Given the description of an element on the screen output the (x, y) to click on. 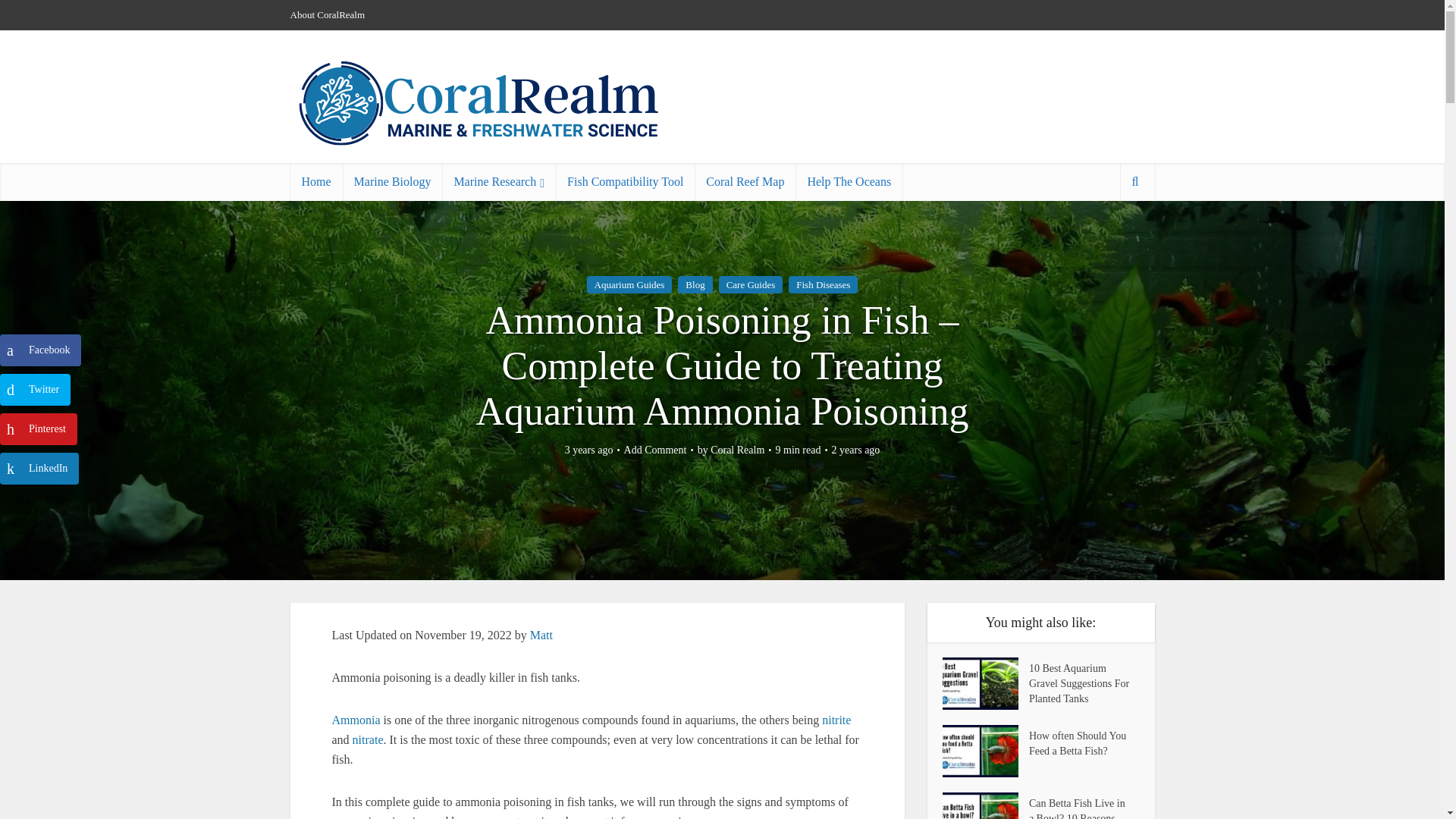
nitrite (836, 719)
Ammonia (355, 719)
Fish Compatibility Tool (625, 181)
Marine Research (499, 181)
nitrate (368, 739)
Aquarium Guides (629, 284)
Blog (694, 284)
Matt (541, 634)
Coral Reef Map (744, 181)
Coral Realm (737, 450)
Add Comment (655, 450)
Marine Biology (392, 181)
Help The Oceans (848, 181)
About CoralRealm (327, 14)
Care Guides (751, 284)
